Given the description of an element on the screen output the (x, y) to click on. 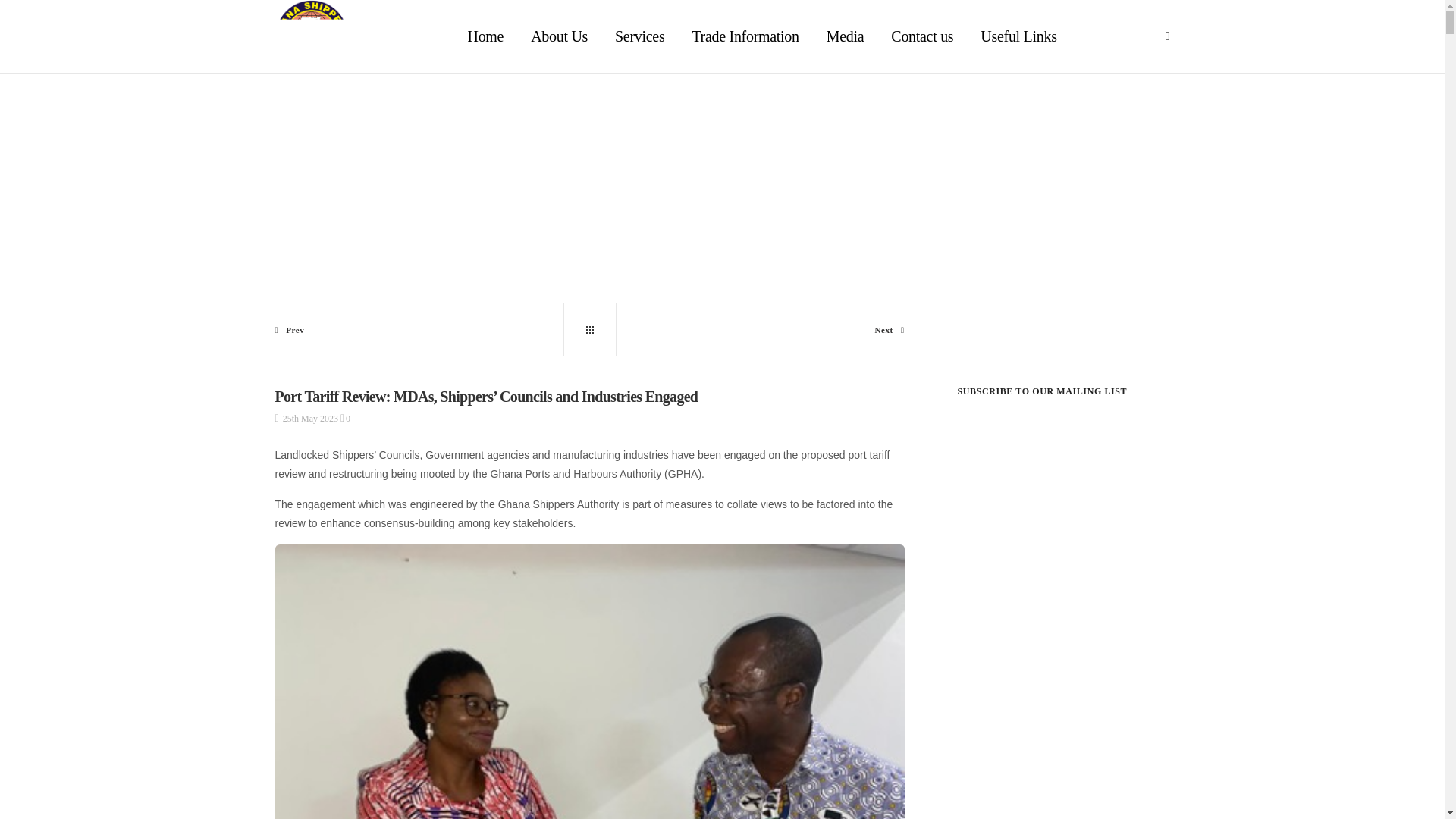
Site logo (311, 36)
Trade Information (744, 36)
Blog (588, 329)
Search (1072, 413)
